Given the description of an element on the screen output the (x, y) to click on. 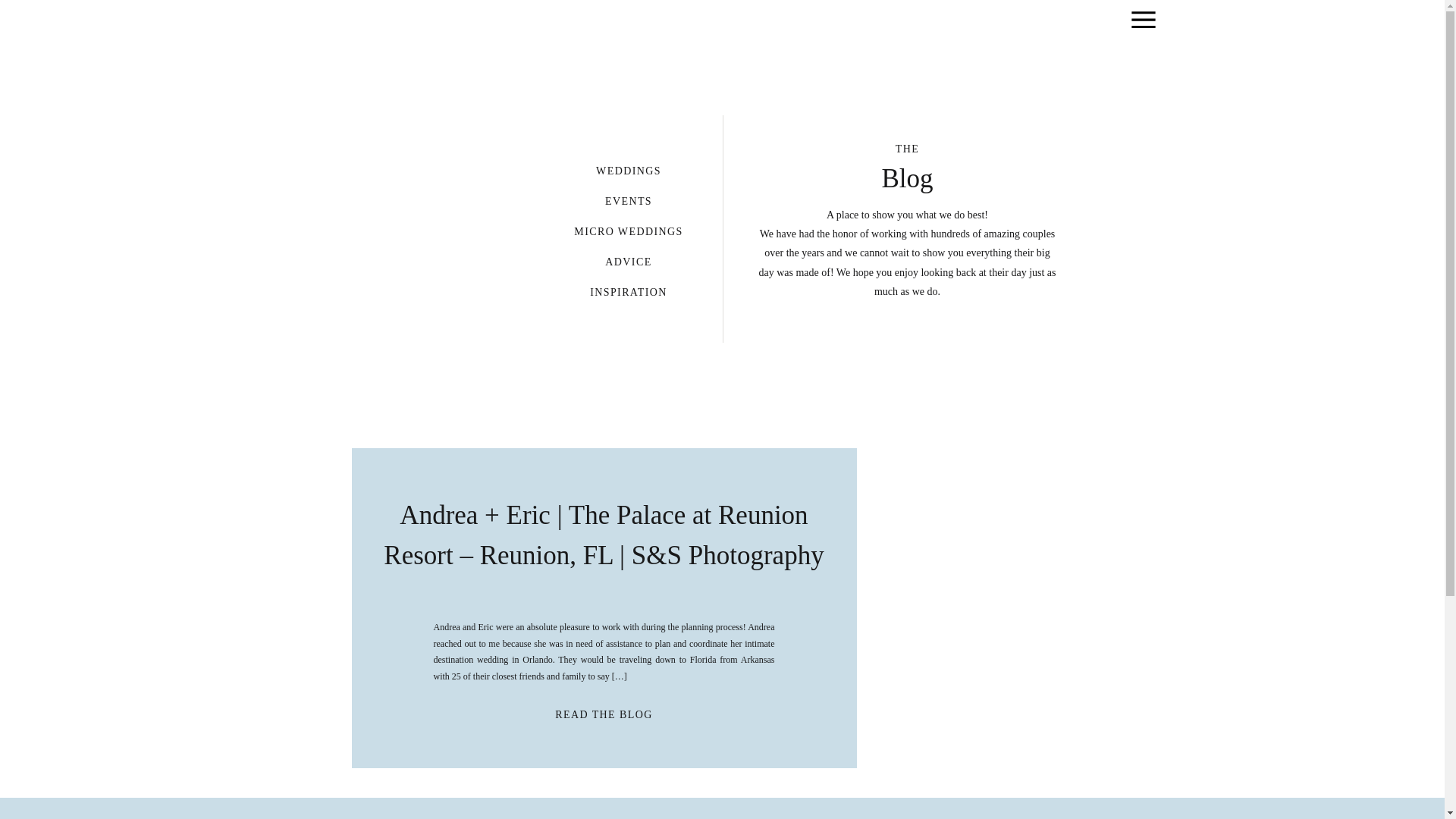
READ THE BLOG (603, 712)
